Given the description of an element on the screen output the (x, y) to click on. 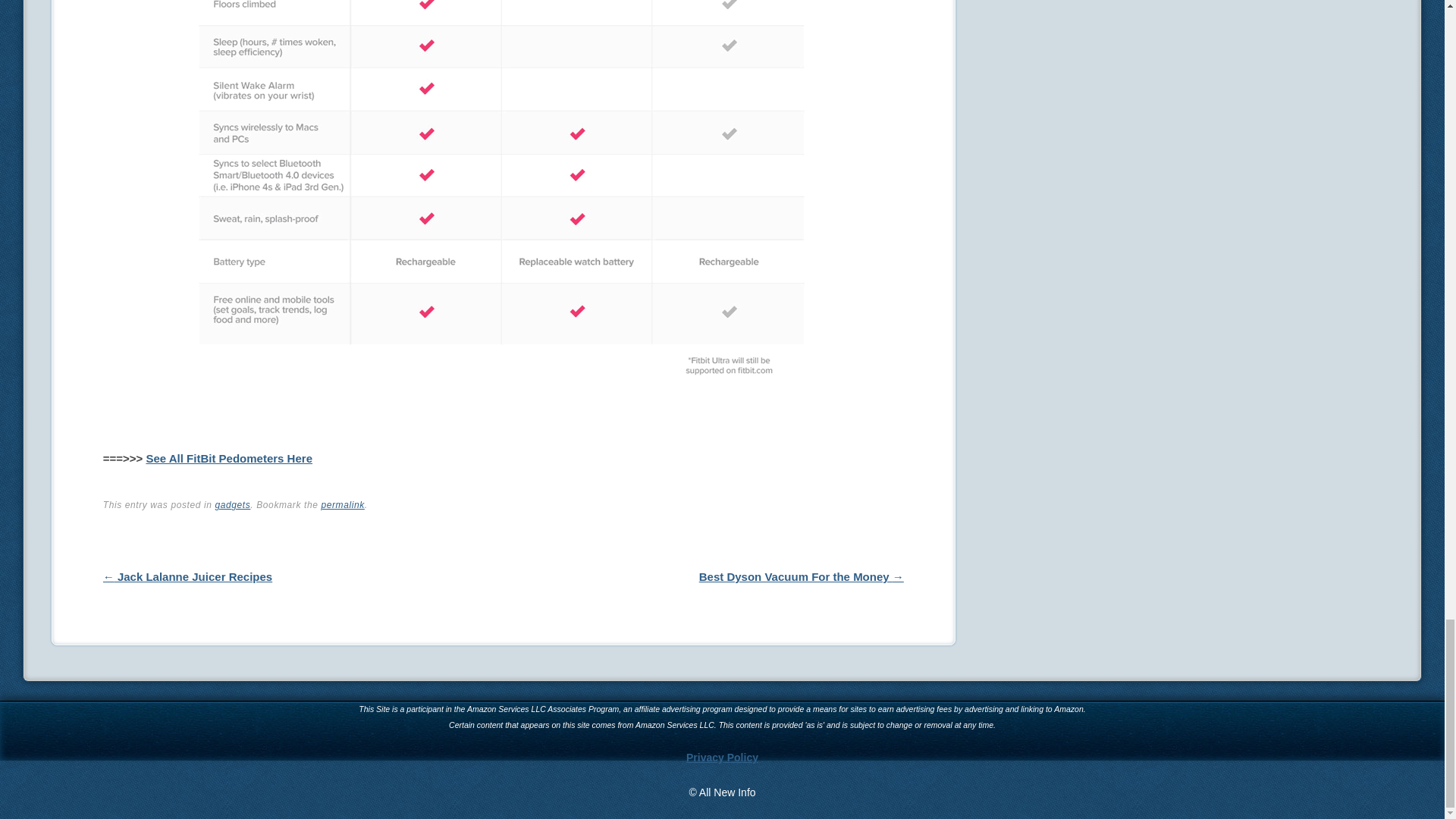
permalink (342, 504)
Permalink to Fitbit Pedometers For Walking (342, 504)
gadgets (232, 504)
See All FitBit Pedometers Here (229, 458)
